Given the description of an element on the screen output the (x, y) to click on. 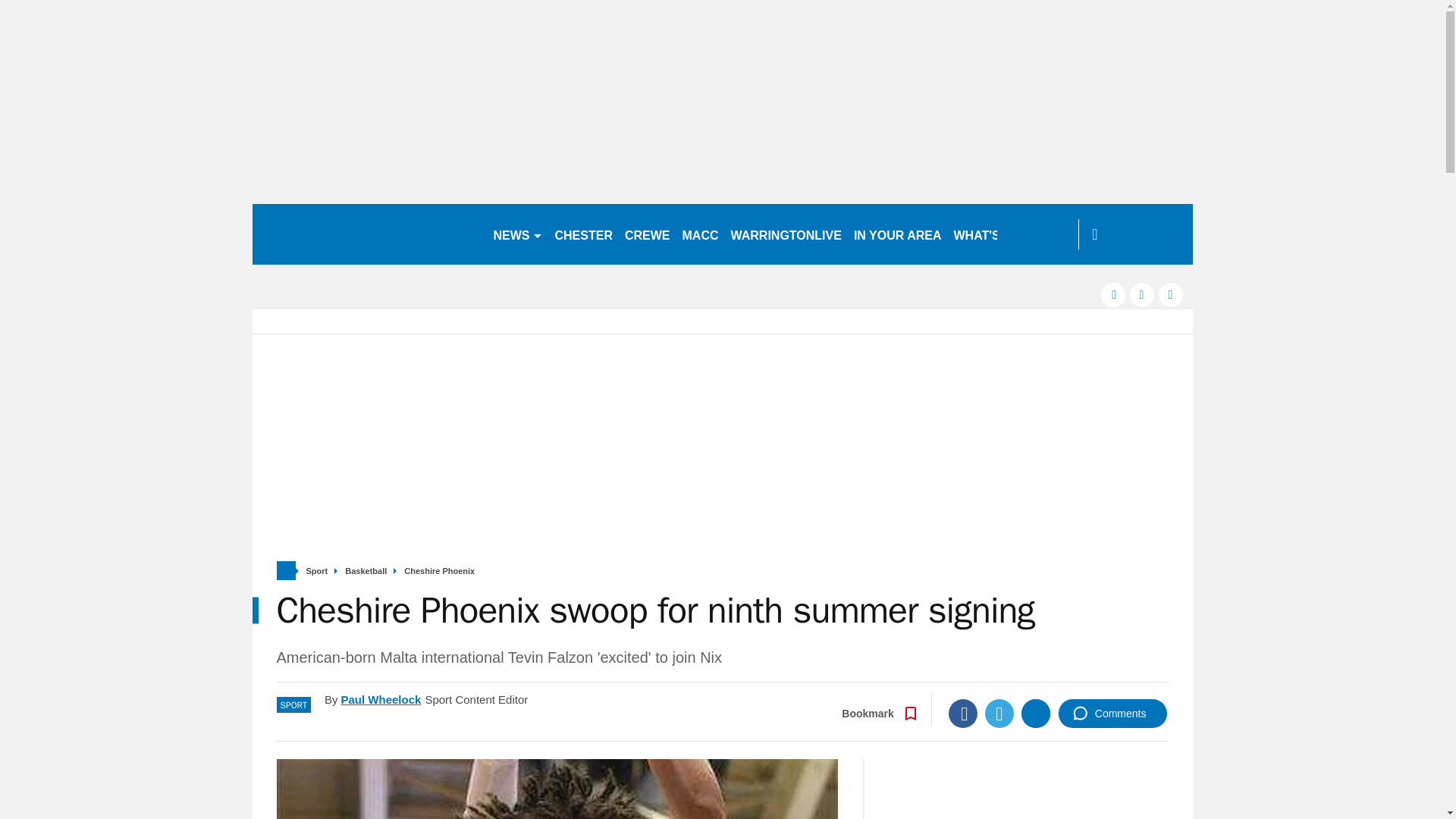
IN YOUR AREA (897, 233)
CREWE (647, 233)
facebook (1112, 294)
NEWS (517, 233)
Comments (1112, 713)
WARRINGTONLIVE (786, 233)
instagram (1170, 294)
twitter (1141, 294)
WHAT'S ON (994, 233)
Twitter (999, 713)
